Given the description of an element on the screen output the (x, y) to click on. 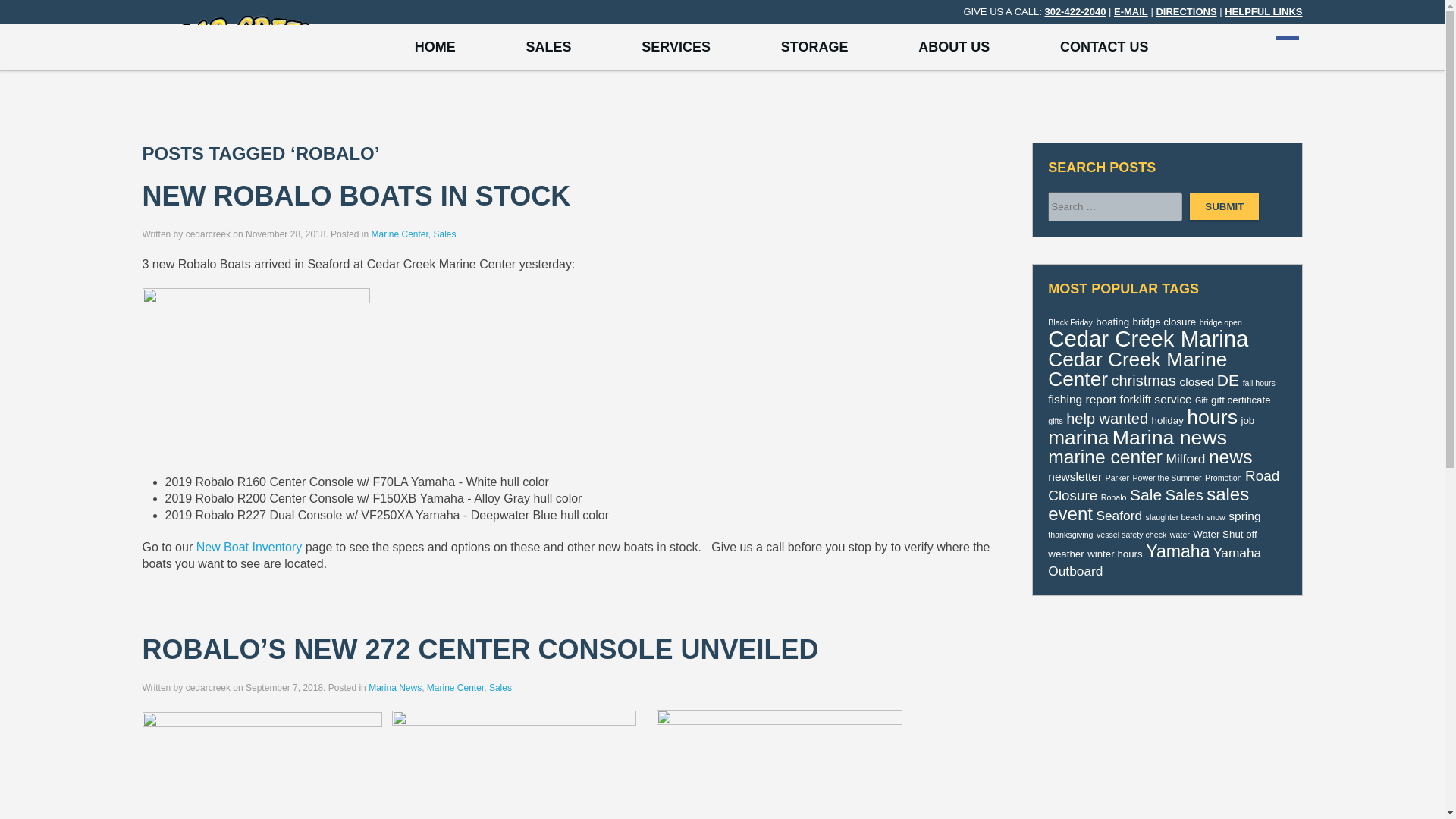
Cedar Creek Marine Center (1137, 369)
boating (1112, 321)
302-422-2040 (1074, 11)
closed (1195, 381)
fishing report (1082, 399)
Submit (1224, 206)
E-MAIL (1130, 11)
ABOUT US (954, 46)
DE (1228, 380)
HELPFUL LINKS (1262, 11)
